Given the description of an element on the screen output the (x, y) to click on. 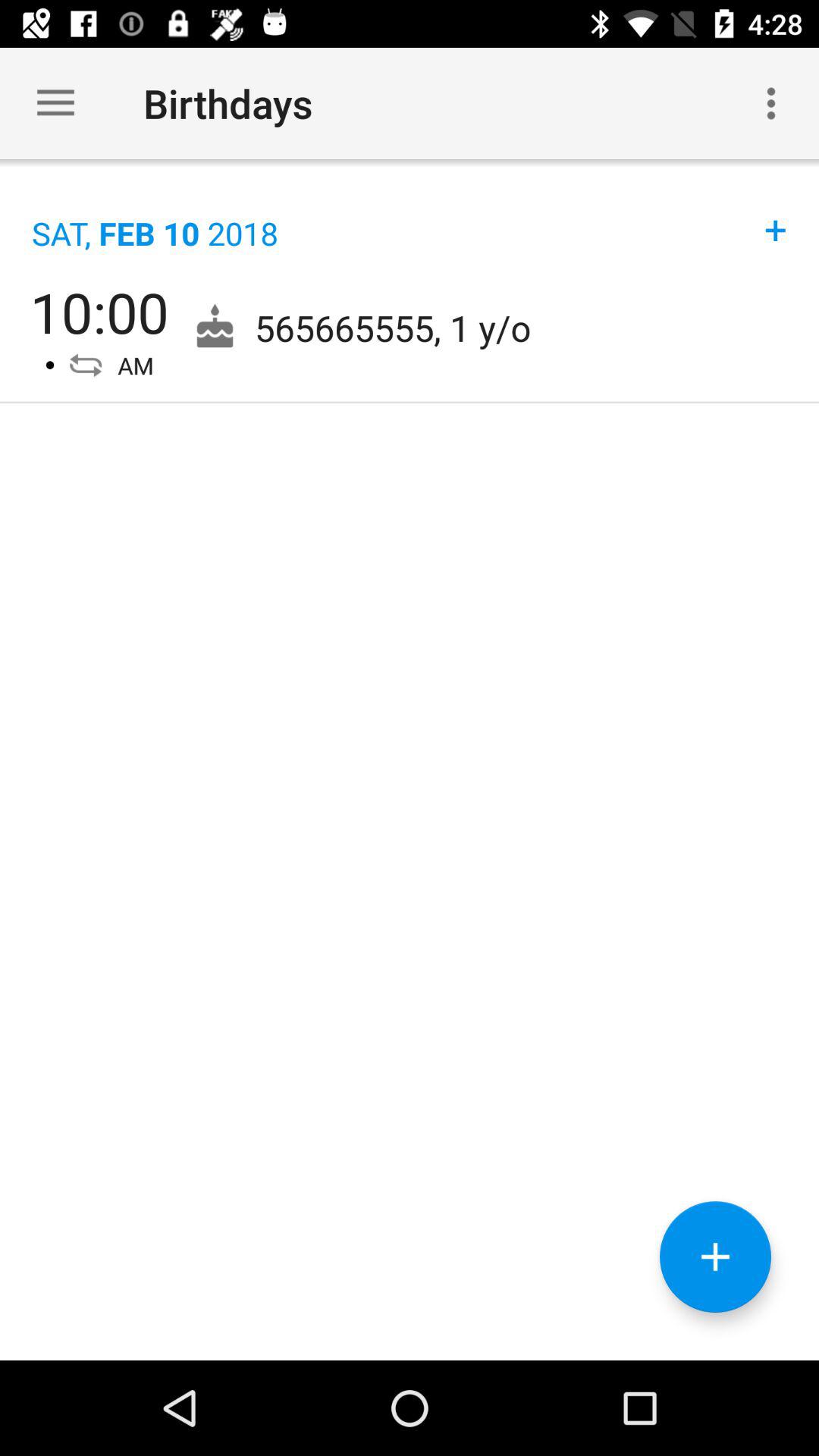
launch the item at the bottom right corner (715, 1256)
